Given the description of an element on the screen output the (x, y) to click on. 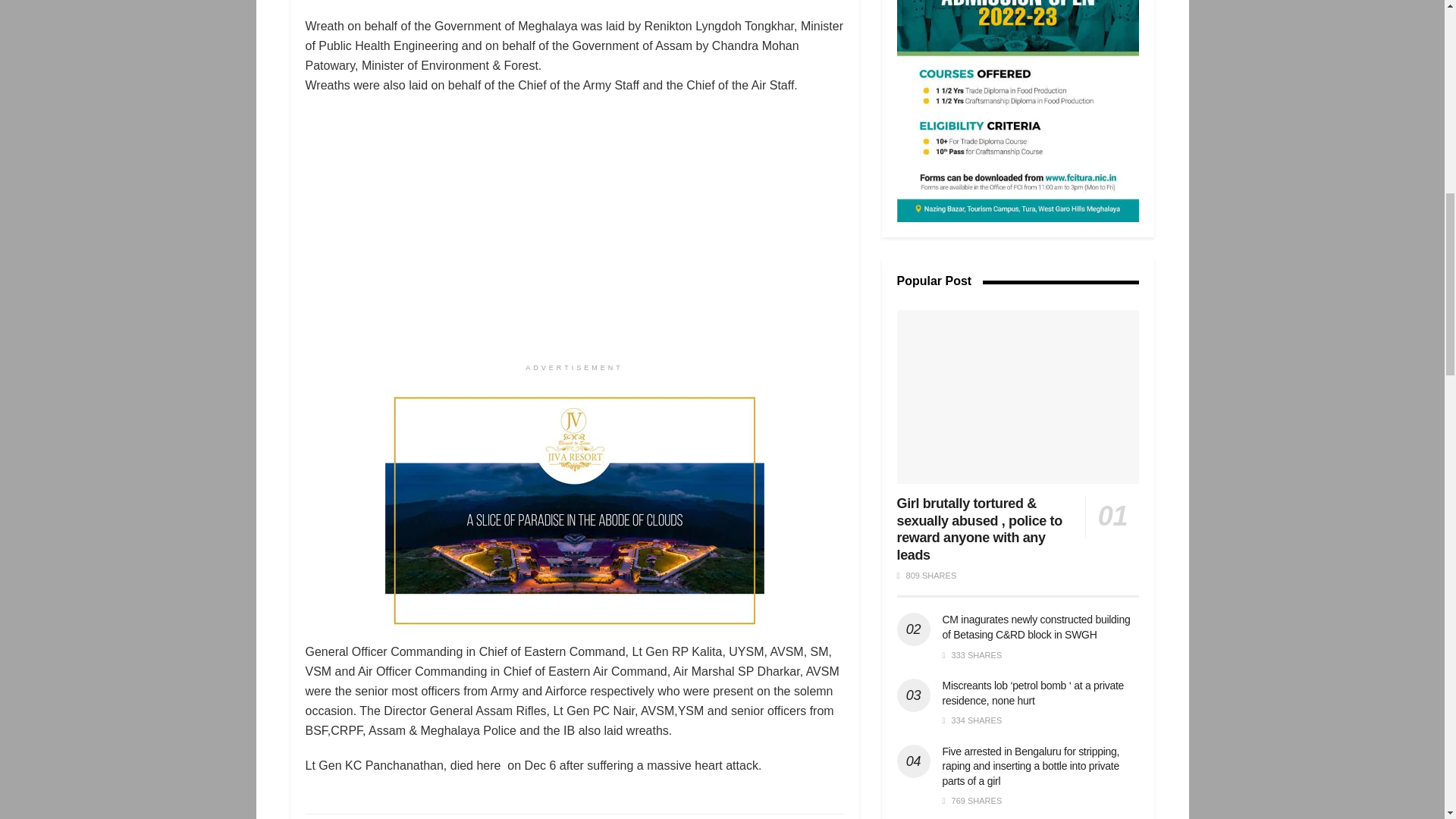
Advertisement (1017, 110)
